Given the description of an element on the screen output the (x, y) to click on. 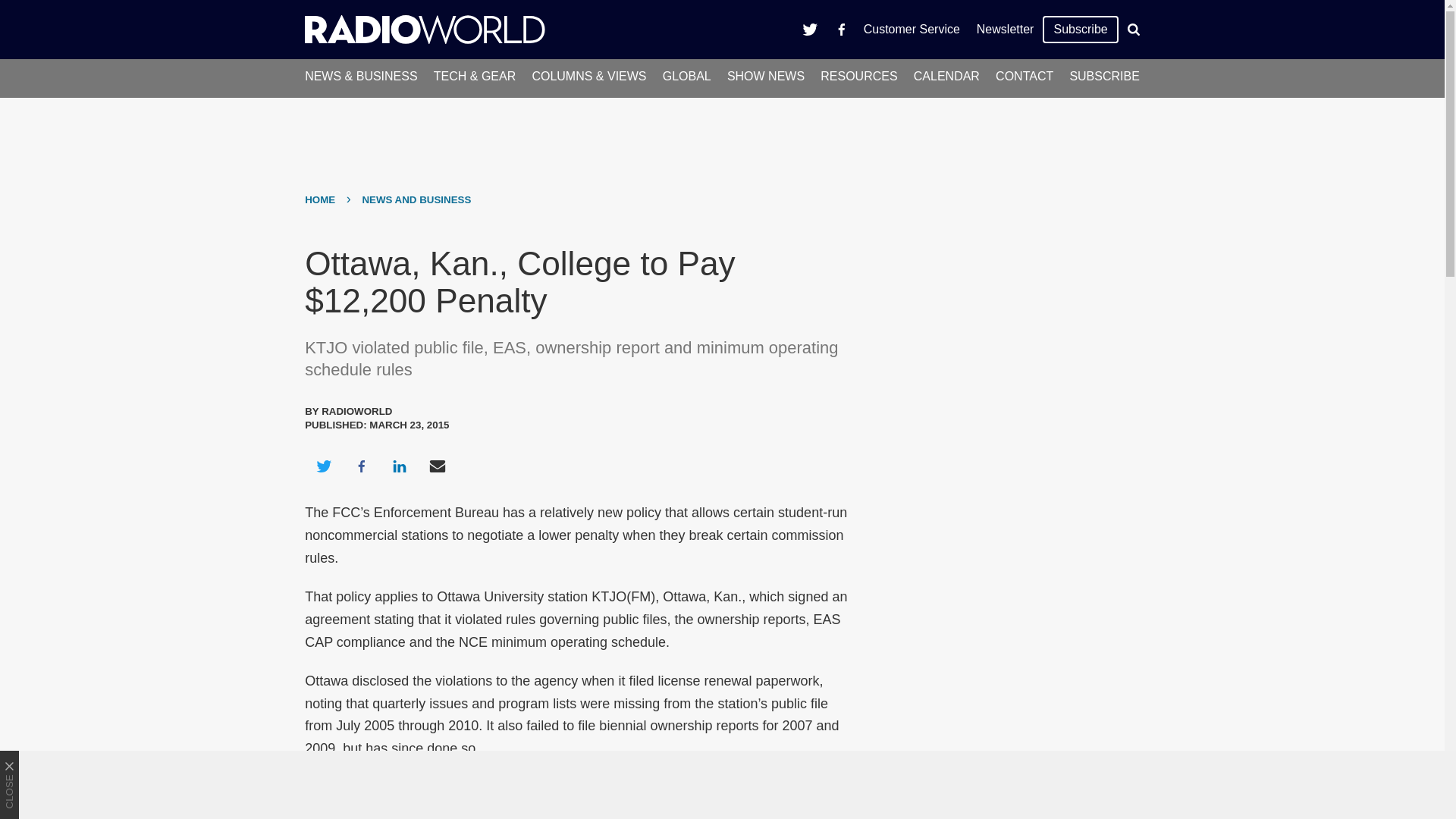
Share via Email (438, 466)
Customer Service (912, 29)
Newsletter (1005, 29)
Share on Facebook (361, 466)
Share on LinkedIn (399, 466)
Share on Twitter (323, 466)
